Given the description of an element on the screen output the (x, y) to click on. 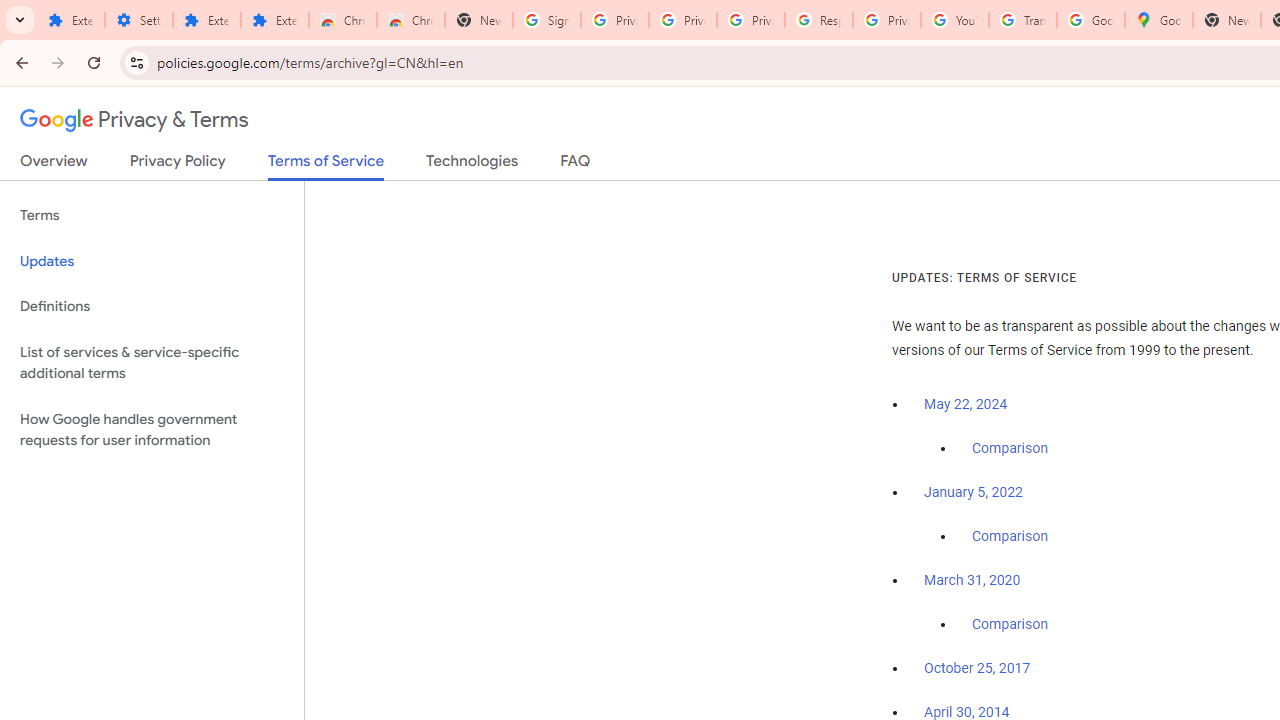
How Google handles government requests for user information (152, 429)
List of services & service-specific additional terms (152, 362)
Privacy Policy (177, 165)
Comparison (1009, 625)
View site information (136, 62)
January 5, 2022 (973, 492)
Settings (138, 20)
Privacy & Terms (134, 120)
Overview (54, 165)
YouTube (954, 20)
March 31, 2020 (972, 580)
